Given the description of an element on the screen output the (x, y) to click on. 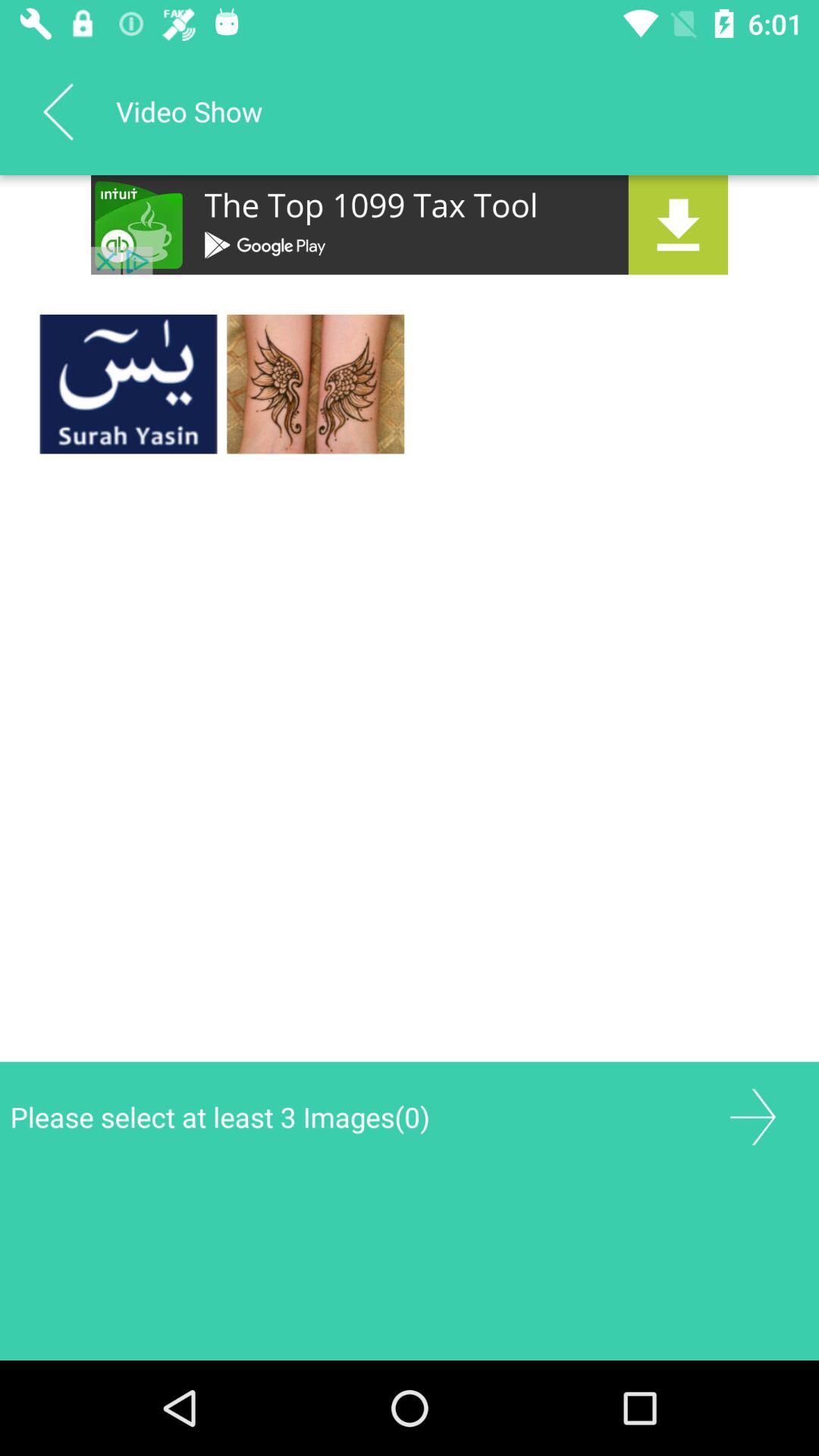
go to next page (752, 1116)
